Given the description of an element on the screen output the (x, y) to click on. 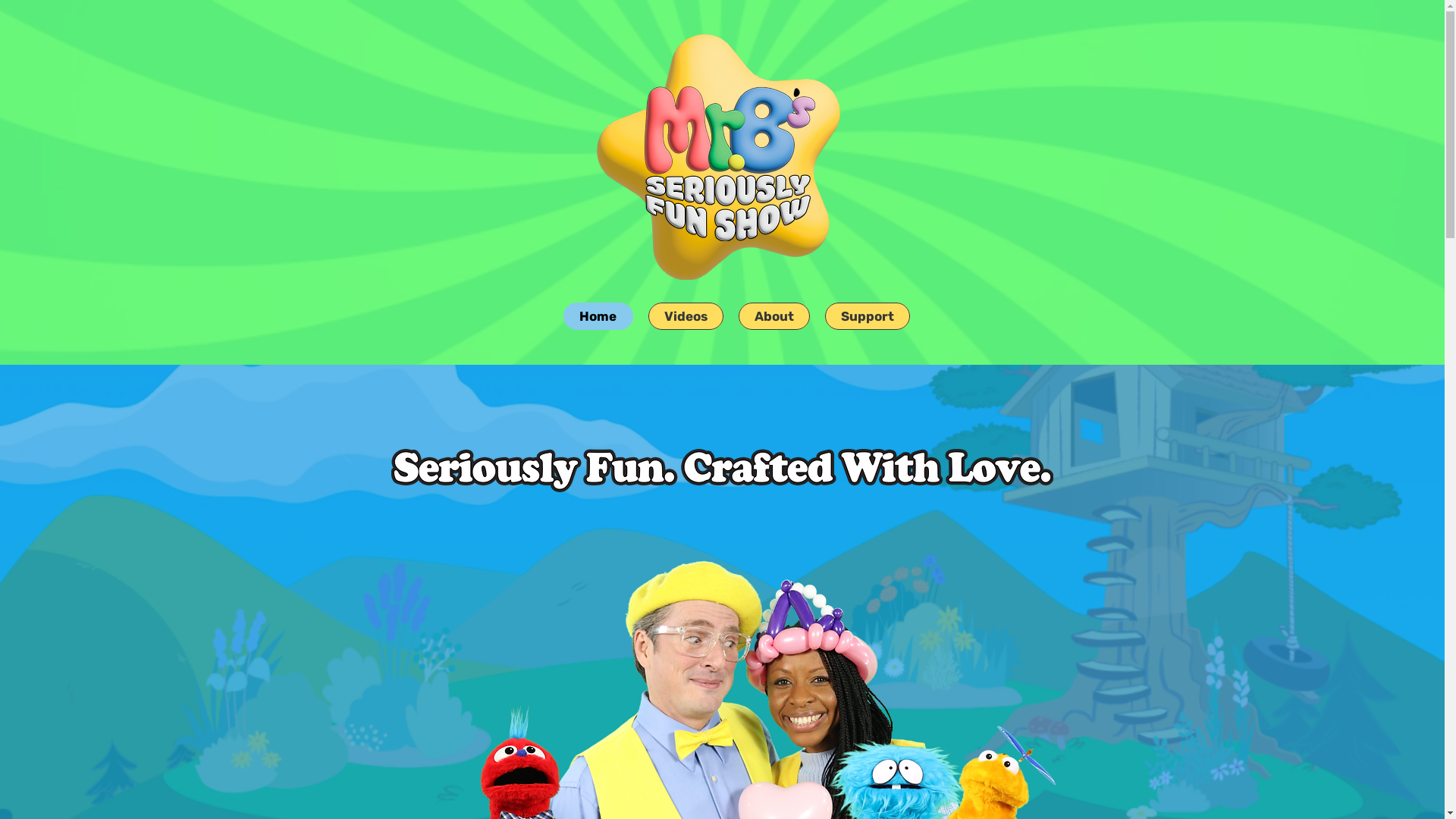
About Element type: text (773, 315)
Videos Element type: text (684, 315)
Home Element type: text (597, 315)
Support Element type: text (867, 315)
3DLogo_BlackOutline.png Element type: hover (729, 163)
